Given the description of an element on the screen output the (x, y) to click on. 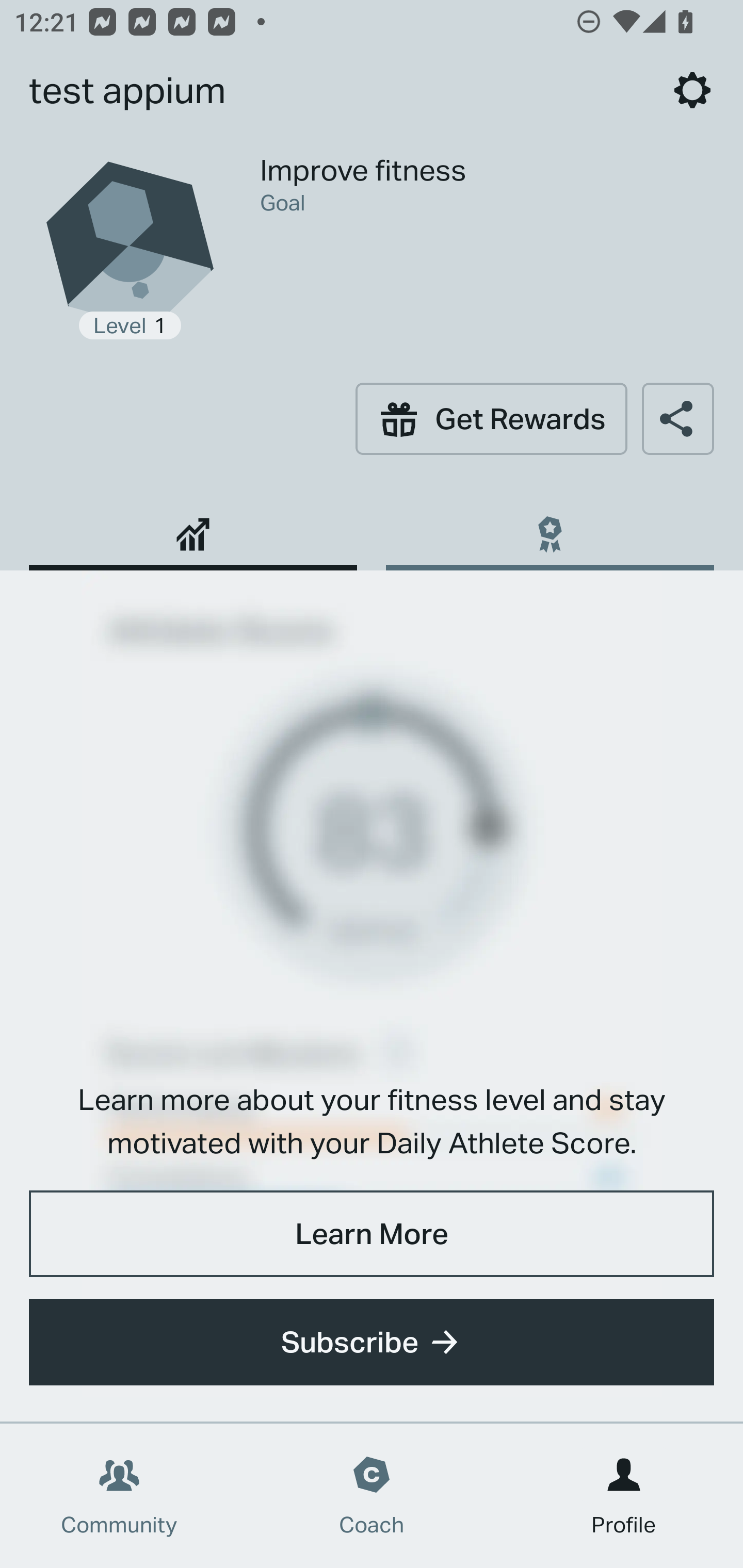
Settings (692, 90)
Get Rewards (491, 418)
Daily Athlete Score (192, 527)
Hall of Fame (549, 527)
Learn More (371, 1233)
Subscribe (371, 1342)
Community (119, 1495)
Coach (371, 1495)
